Given the description of an element on the screen output the (x, y) to click on. 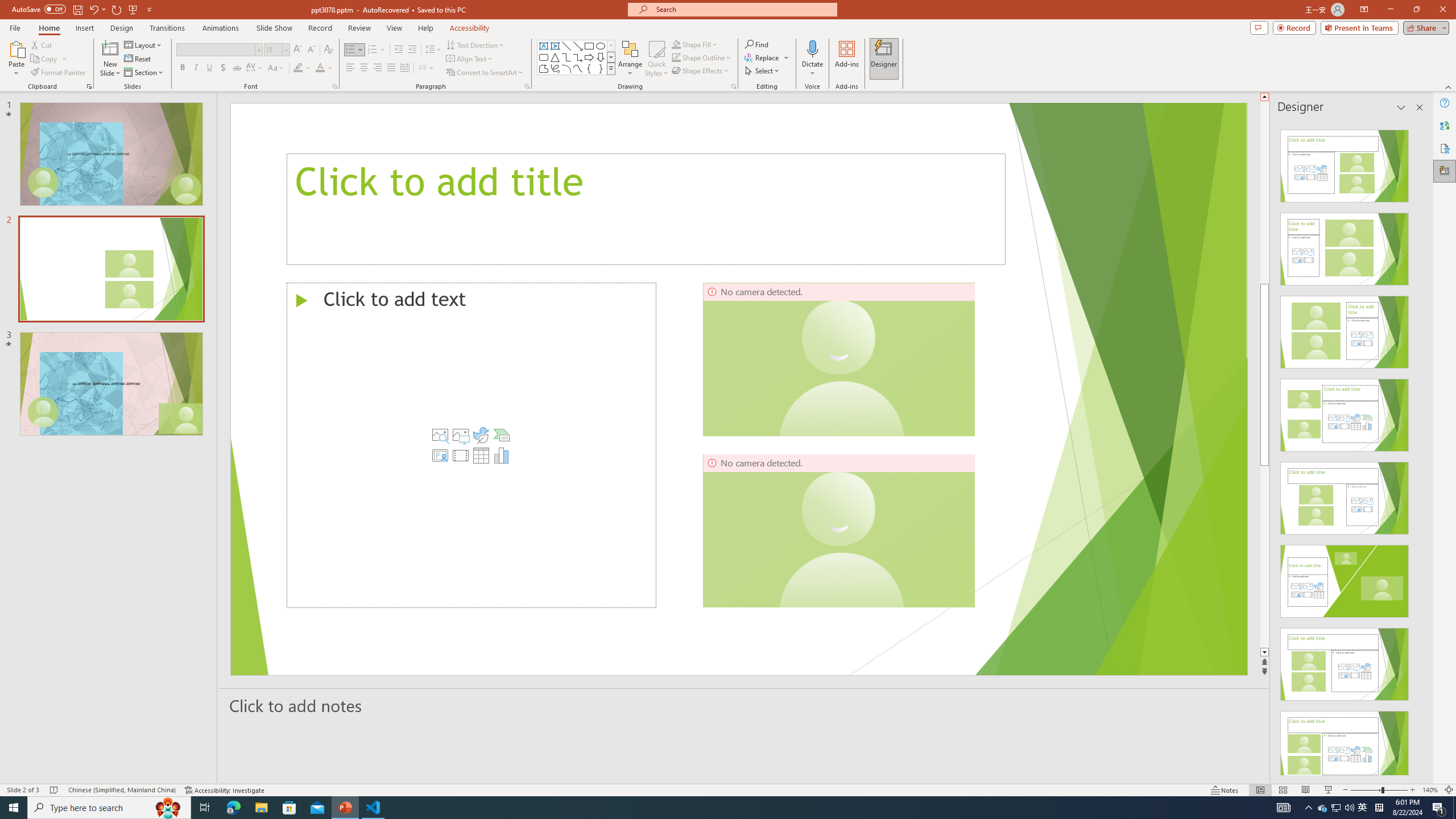
Clear Formatting (327, 49)
Decrease Indent (398, 49)
Vertical Text Box (554, 45)
Shape Fill Dark Green, Accent 2 (675, 44)
Camera 5, No camera detected. (838, 359)
Section (144, 72)
Insert an Icon (480, 434)
Freeform: Shape (543, 68)
Slide Notes (743, 705)
